Given the description of an element on the screen output the (x, y) to click on. 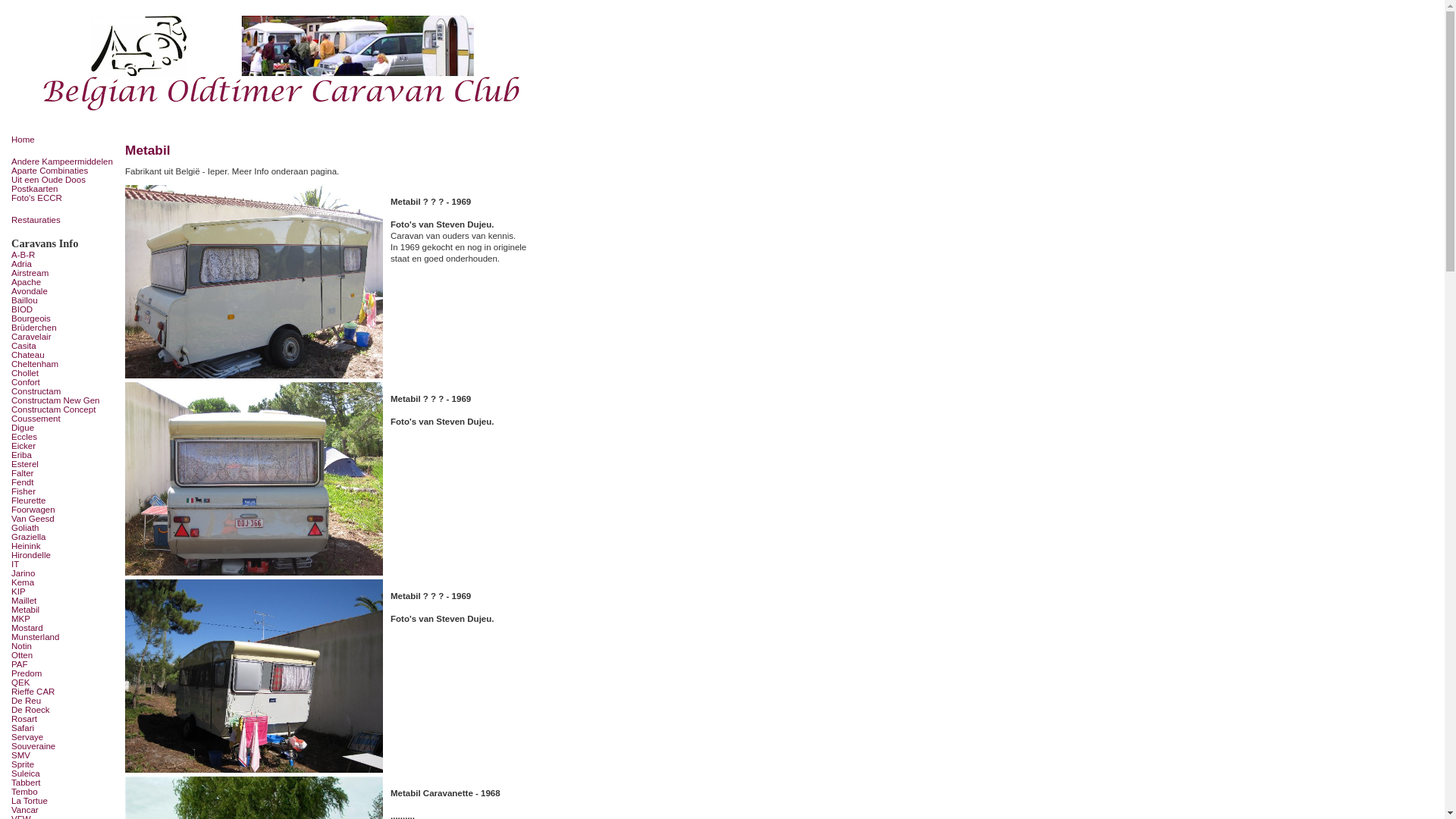
BIOD Element type: text (64, 308)
Jarino Element type: text (64, 572)
Souveraine Element type: text (64, 745)
Rieffe CAR Element type: text (64, 691)
Baillou Element type: text (64, 299)
Apache Element type: text (64, 281)
Airstream Element type: text (64, 272)
Caravelair Element type: text (64, 336)
Predom Element type: text (64, 672)
Maillet Element type: text (64, 600)
Metabil - 1969 Element type: hover (253, 675)
Heinink Element type: text (64, 545)
Eccles Element type: text (64, 436)
KIP Element type: text (64, 591)
Safari Element type: text (64, 727)
Bourgeois Element type: text (64, 318)
Rosart Element type: text (64, 718)
Foto's ECCR Element type: text (64, 197)
A-B-R Element type: text (64, 254)
Suleica Element type: text (64, 773)
Restauraties Element type: text (64, 219)
Fleurette Element type: text (64, 500)
Metabil - 1969 Element type: hover (253, 478)
Sprite Element type: text (64, 763)
De Reu Element type: text (64, 700)
Kema Element type: text (64, 581)
Casita Element type: text (64, 345)
Fendt Element type: text (64, 481)
Chateau Element type: text (64, 354)
Coussement Element type: text (64, 418)
Andere Kampeermiddelen Element type: text (64, 161)
Falter Element type: text (64, 472)
SMV Element type: text (64, 754)
Servaye Element type: text (64, 736)
Metabil Element type: text (64, 609)
Home Element type: text (64, 139)
Fisher Element type: text (64, 490)
Hirondelle Element type: text (64, 554)
PAF Element type: text (64, 663)
Notin Element type: text (64, 645)
Constructam Element type: text (64, 390)
Aparte Combinaties Element type: text (64, 170)
Confort Element type: text (64, 381)
Esterel Element type: text (64, 463)
Avondale Element type: text (64, 290)
Terug naar de Home page Element type: hover (284, 63)
Vancar Element type: text (64, 809)
Goliath Element type: text (64, 527)
Otten Element type: text (64, 654)
Metabil - 1969 Element type: hover (253, 281)
Eicker Element type: text (64, 445)
Constructam Concept Element type: text (64, 409)
IT Element type: text (64, 563)
De Roeck Element type: text (64, 709)
Adria Element type: text (64, 263)
La Tortue Element type: text (64, 800)
QEK Element type: text (64, 682)
Cheltenham Element type: text (64, 363)
Postkaarten Element type: text (64, 188)
Constructam New Gen Element type: text (64, 399)
Eriba Element type: text (64, 454)
MKP Element type: text (64, 618)
Tembo Element type: text (64, 791)
Van Geesd Element type: text (64, 518)
Graziella Element type: text (64, 536)
Munsterland Element type: text (64, 636)
Digue Element type: text (64, 427)
Foorwagen Element type: text (64, 509)
Uit een Oude Doos Element type: text (64, 179)
Chollet Element type: text (64, 372)
Mostard Element type: text (64, 627)
Tabbert Element type: text (64, 782)
